Given the description of an element on the screen output the (x, y) to click on. 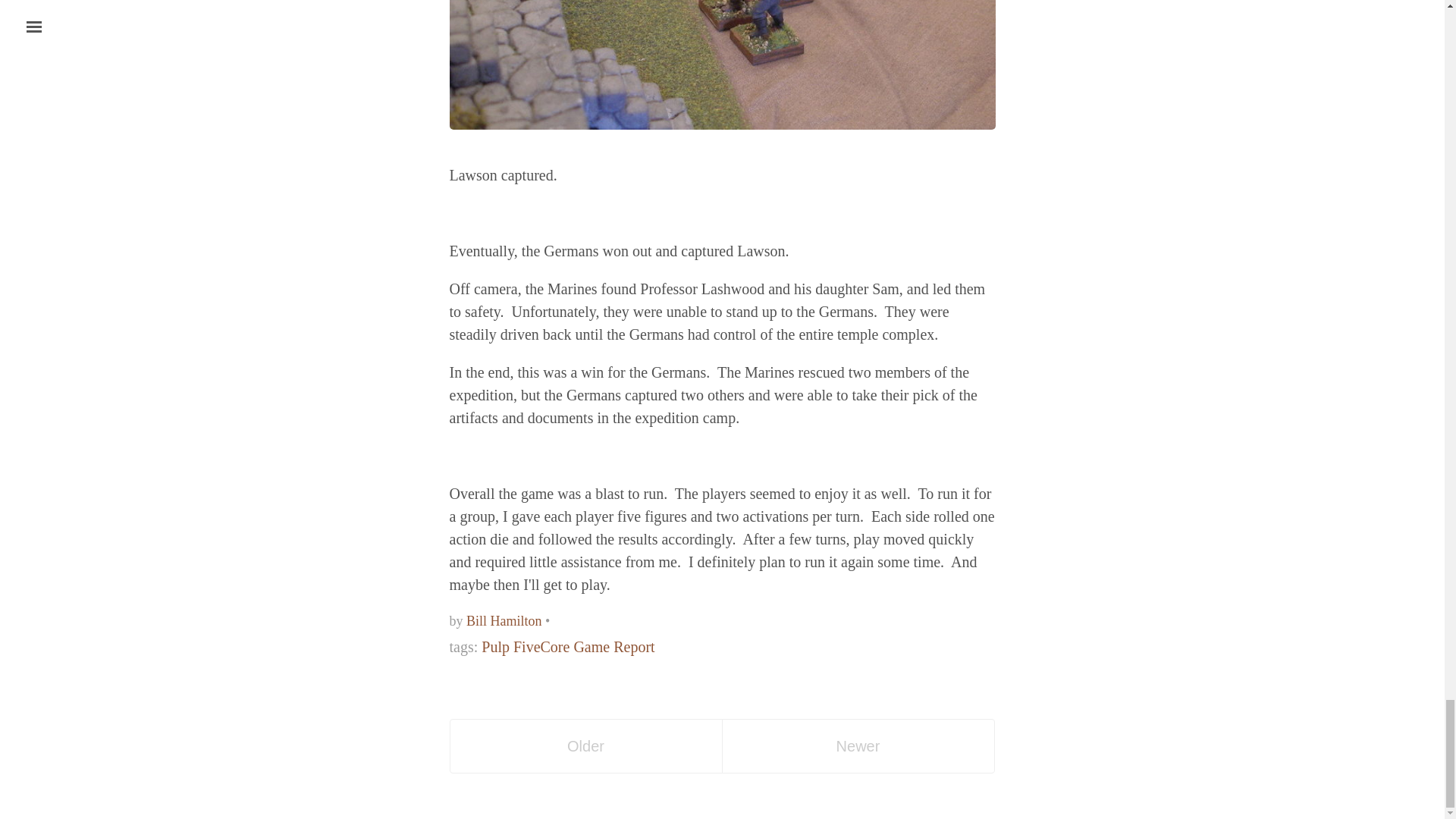
Game Report (613, 646)
Pulp (495, 646)
Bill Hamilton (503, 620)
FiveCore (541, 646)
